Given the description of an element on the screen output the (x, y) to click on. 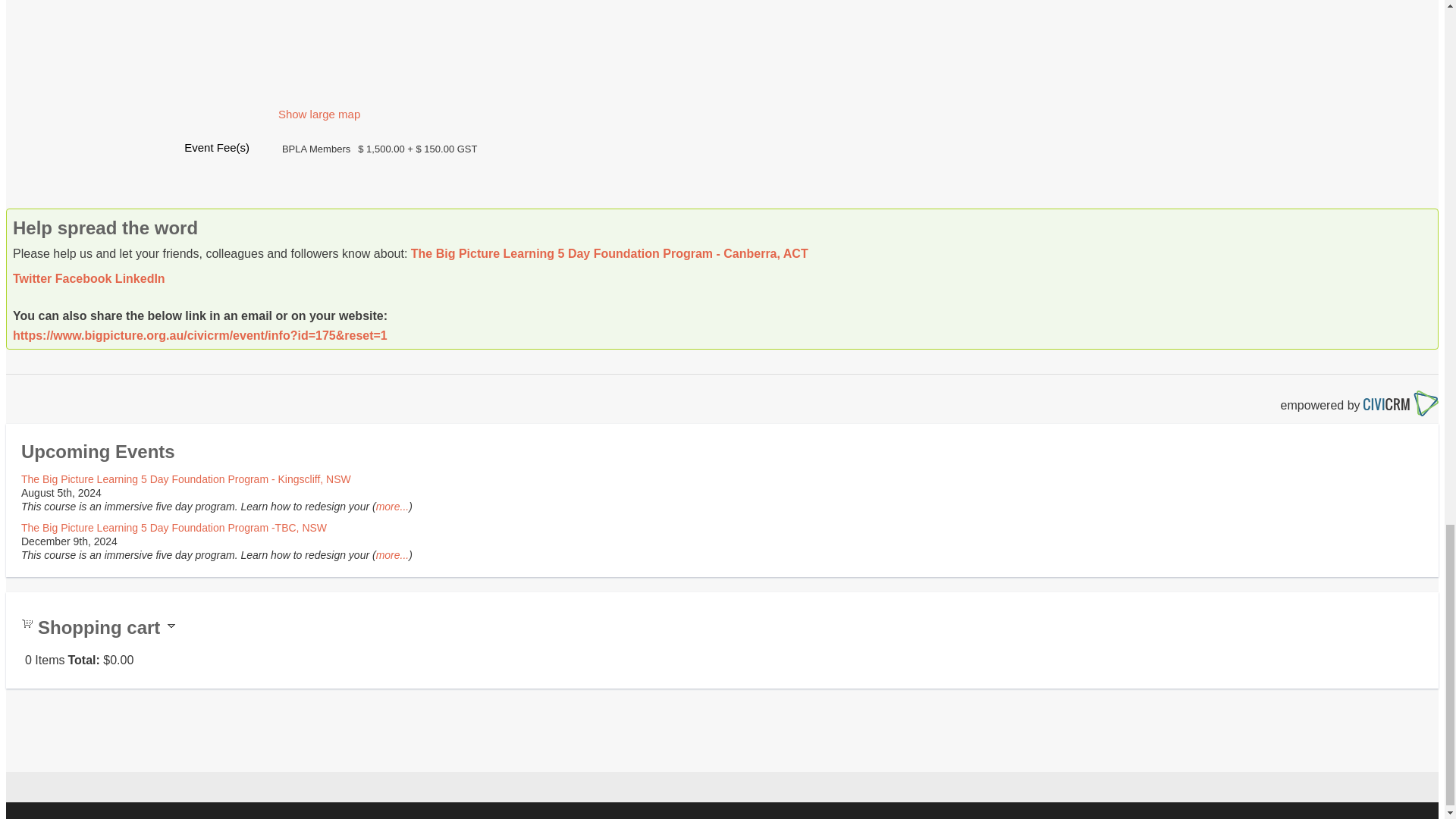
Show large map (318, 113)
